Given the description of an element on the screen output the (x, y) to click on. 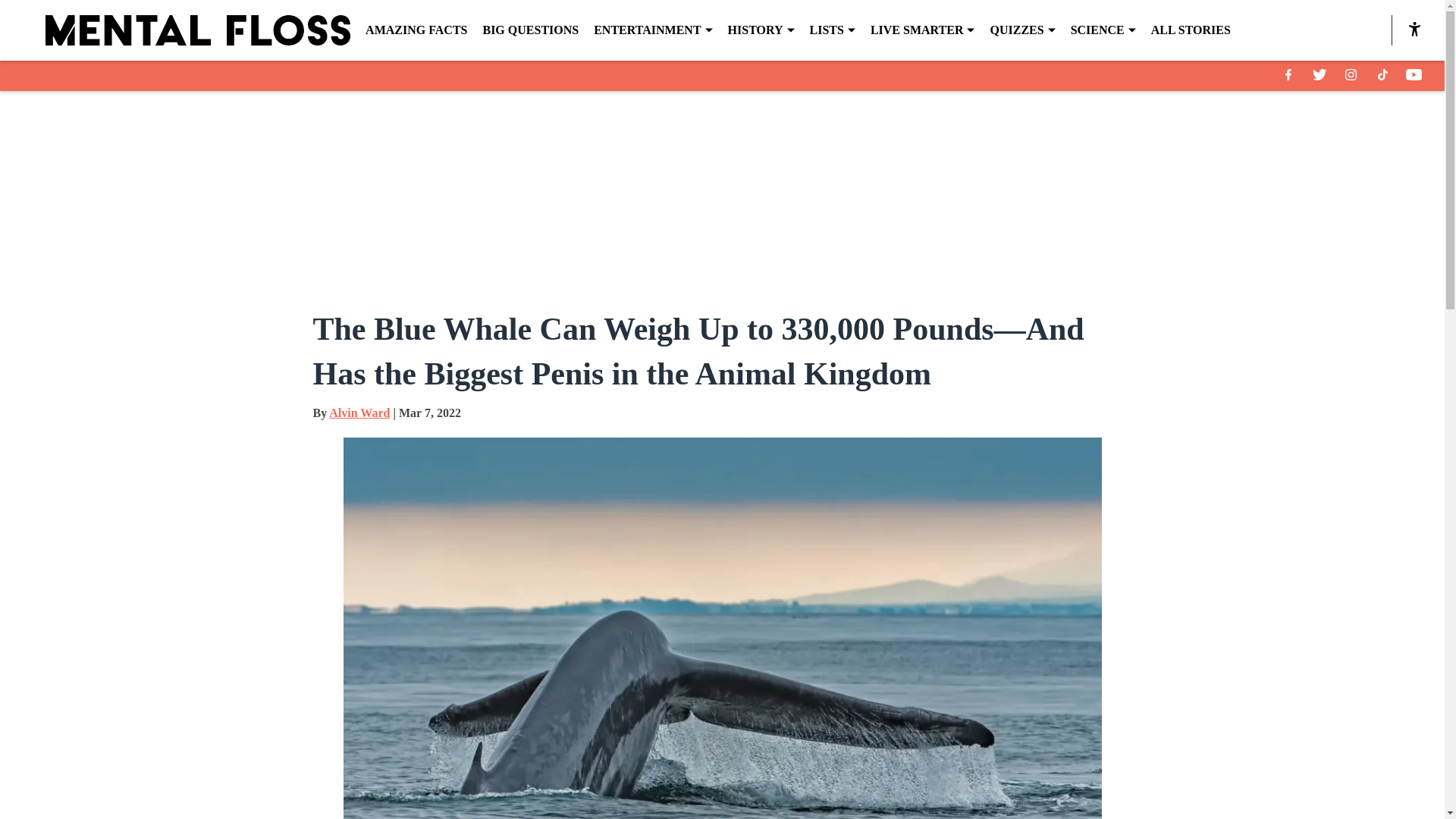
AMAZING FACTS (416, 30)
BIG QUESTIONS (529, 30)
ALL STORIES (1190, 30)
